Given the description of an element on the screen output the (x, y) to click on. 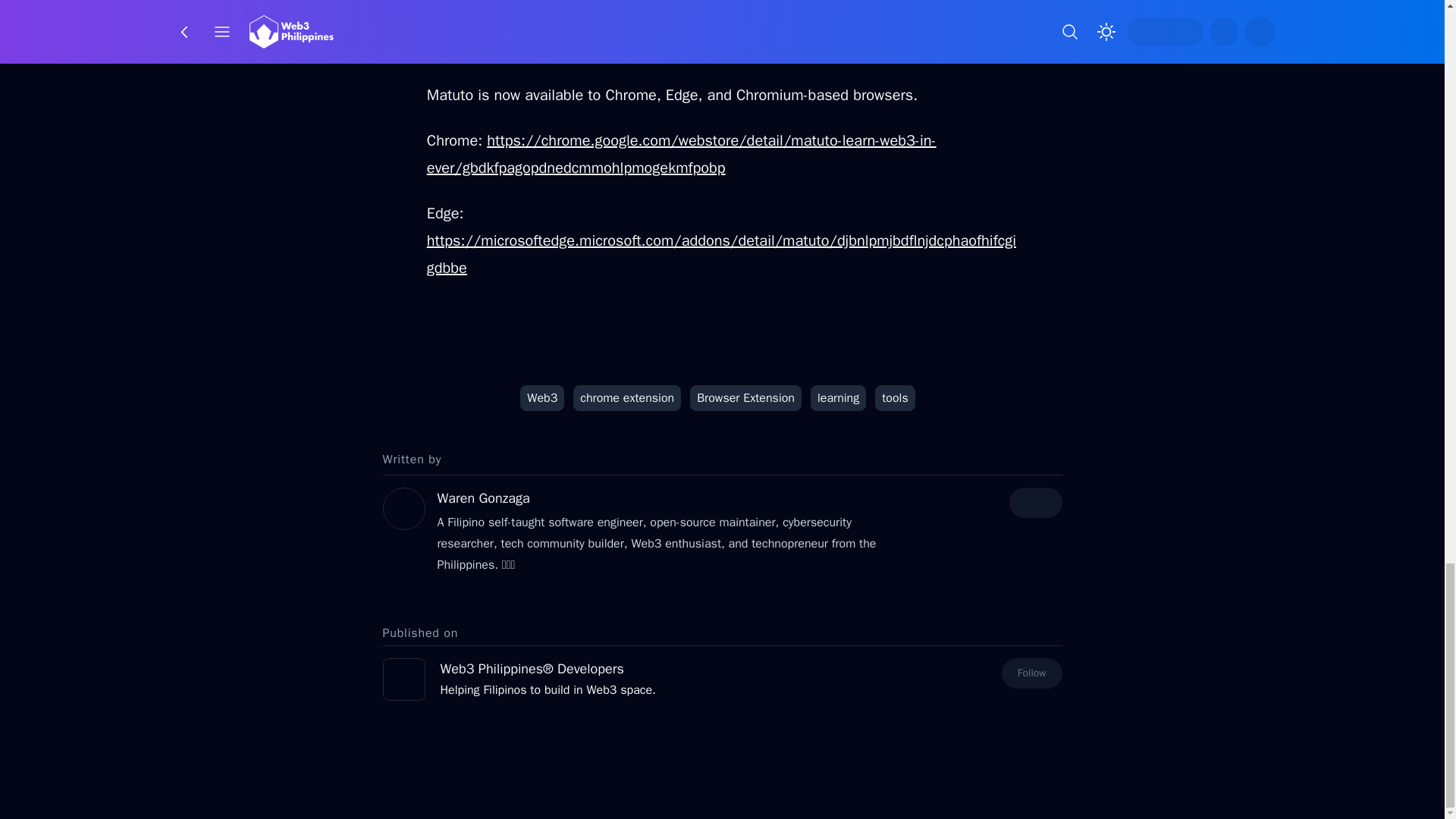
learning (838, 397)
Browser Extension (746, 397)
Follow (1031, 673)
Web3 (541, 397)
chrome extension (627, 397)
Waren Gonzaga (482, 497)
tools (895, 397)
